Given the description of an element on the screen output the (x, y) to click on. 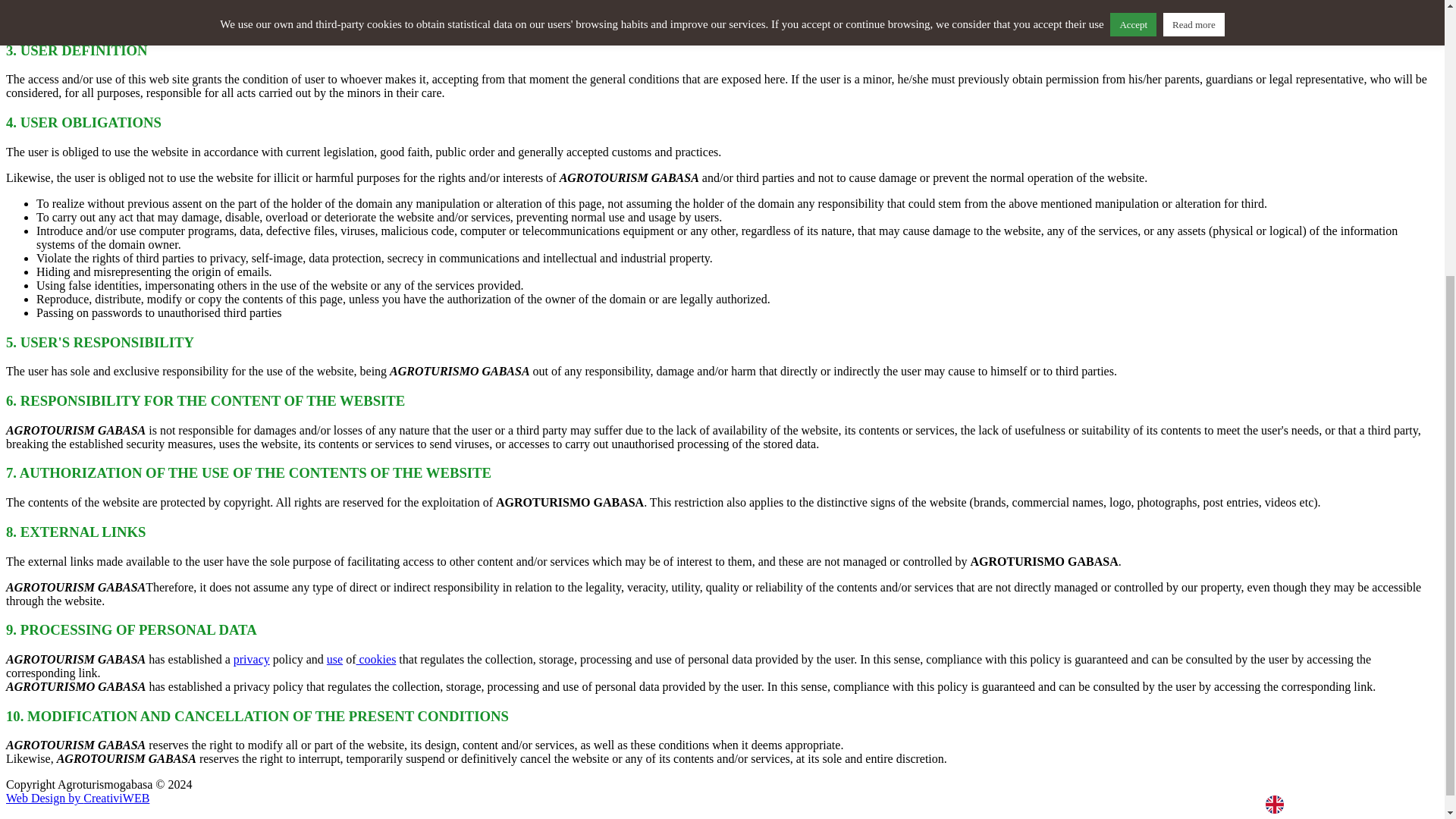
cookies (375, 658)
privacy (250, 658)
Language switcher : French (1352, 384)
use (334, 658)
Language switcher : Spanish (1311, 384)
Language switcher : Catalan (1393, 384)
AGROTURISMO GABASA (98, 804)
CreativiWEB (115, 797)
Web Design by (98, 804)
